Given the description of an element on the screen output the (x, y) to click on. 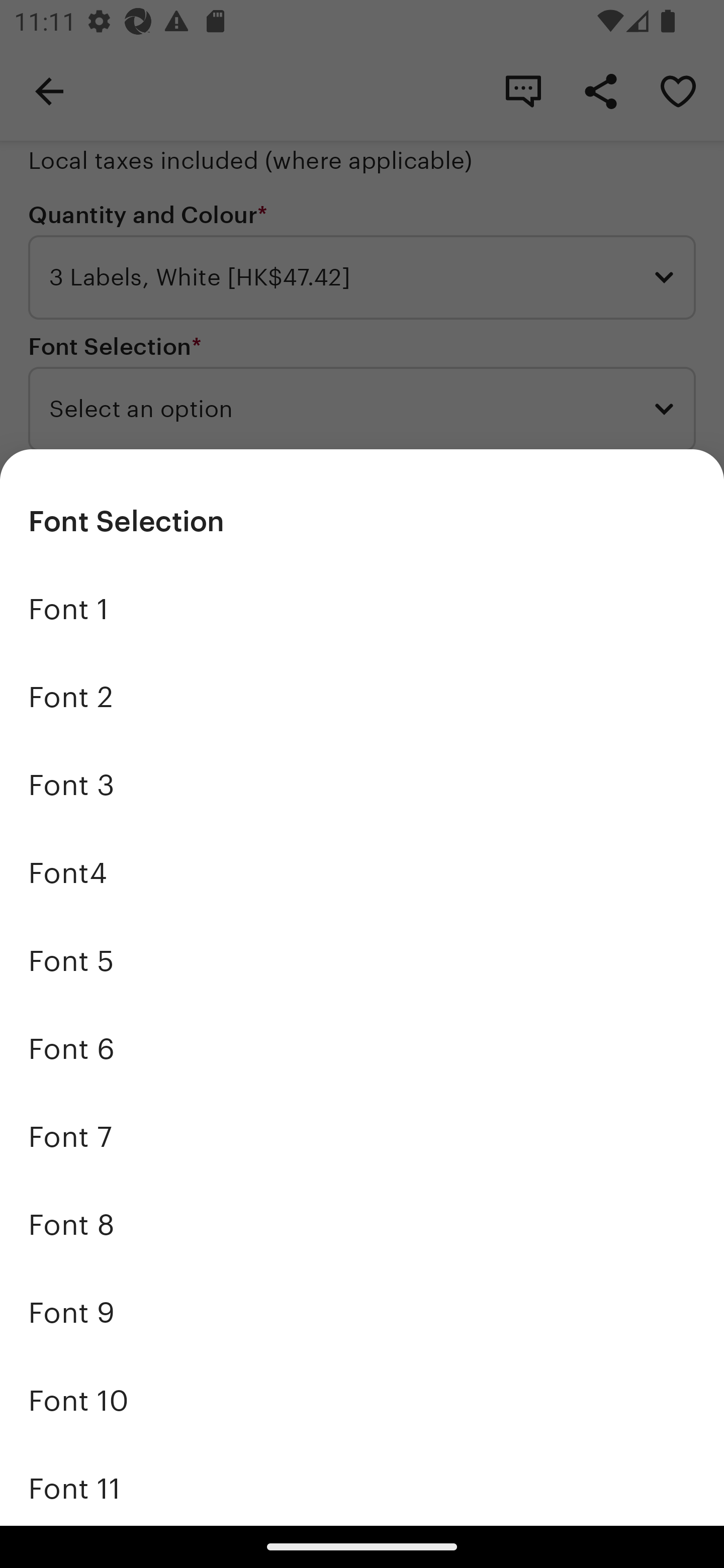
Font 1 (362, 609)
Font 2 (362, 697)
Font 3 (362, 785)
Font4 (362, 873)
Font 5 (362, 961)
Font 6 (362, 1048)
Font 7 (362, 1136)
Font 8 (362, 1224)
Font 9 (362, 1312)
Font 10 (362, 1400)
Font 11 (362, 1484)
